Given the description of an element on the screen output the (x, y) to click on. 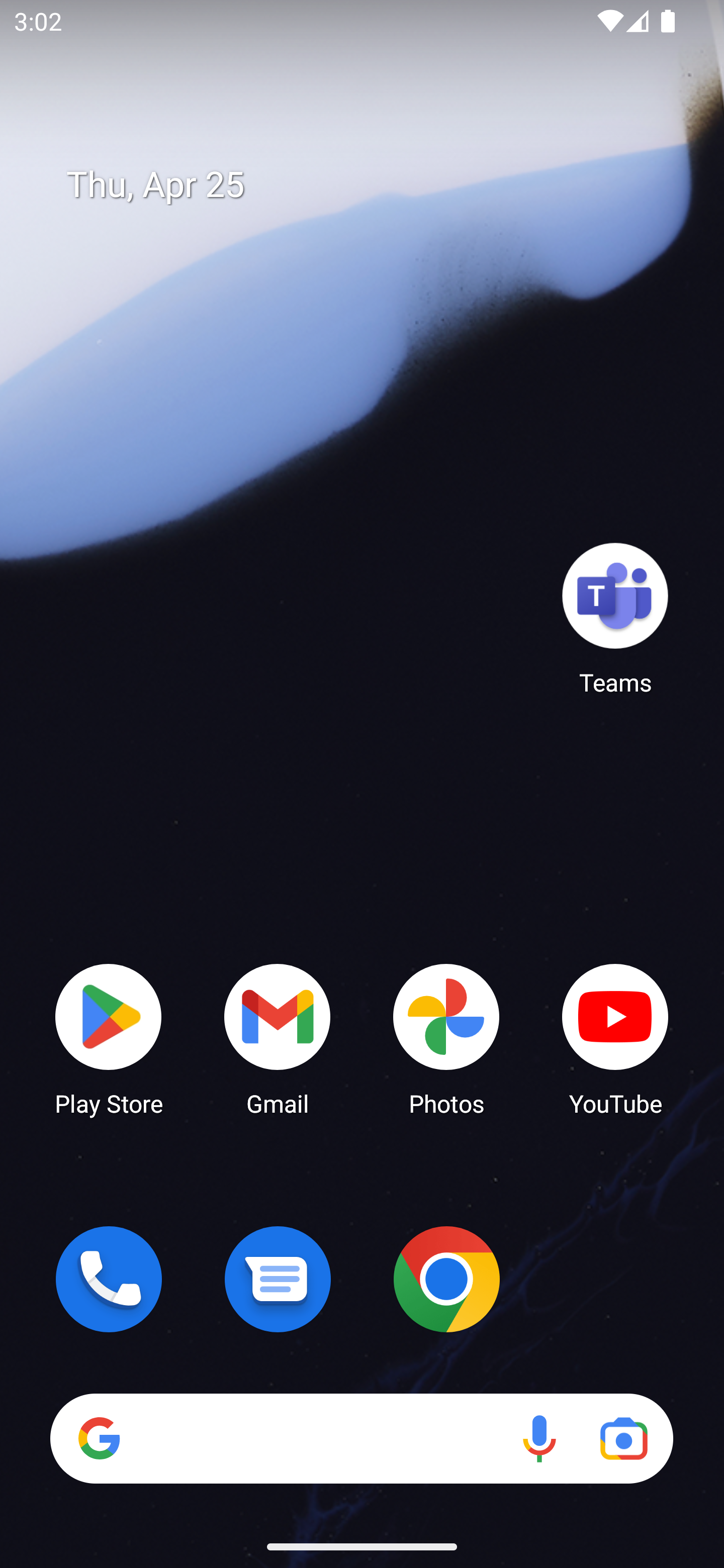
Thu, Apr 25 (375, 184)
Teams (615, 617)
Play Store (108, 1038)
Gmail (277, 1038)
Photos (445, 1038)
YouTube (615, 1038)
Phone (108, 1279)
Messages (277, 1279)
Chrome (446, 1279)
Search Voice search Google Lens (361, 1438)
Voice search (539, 1438)
Google Lens (623, 1438)
